Given the description of an element on the screen output the (x, y) to click on. 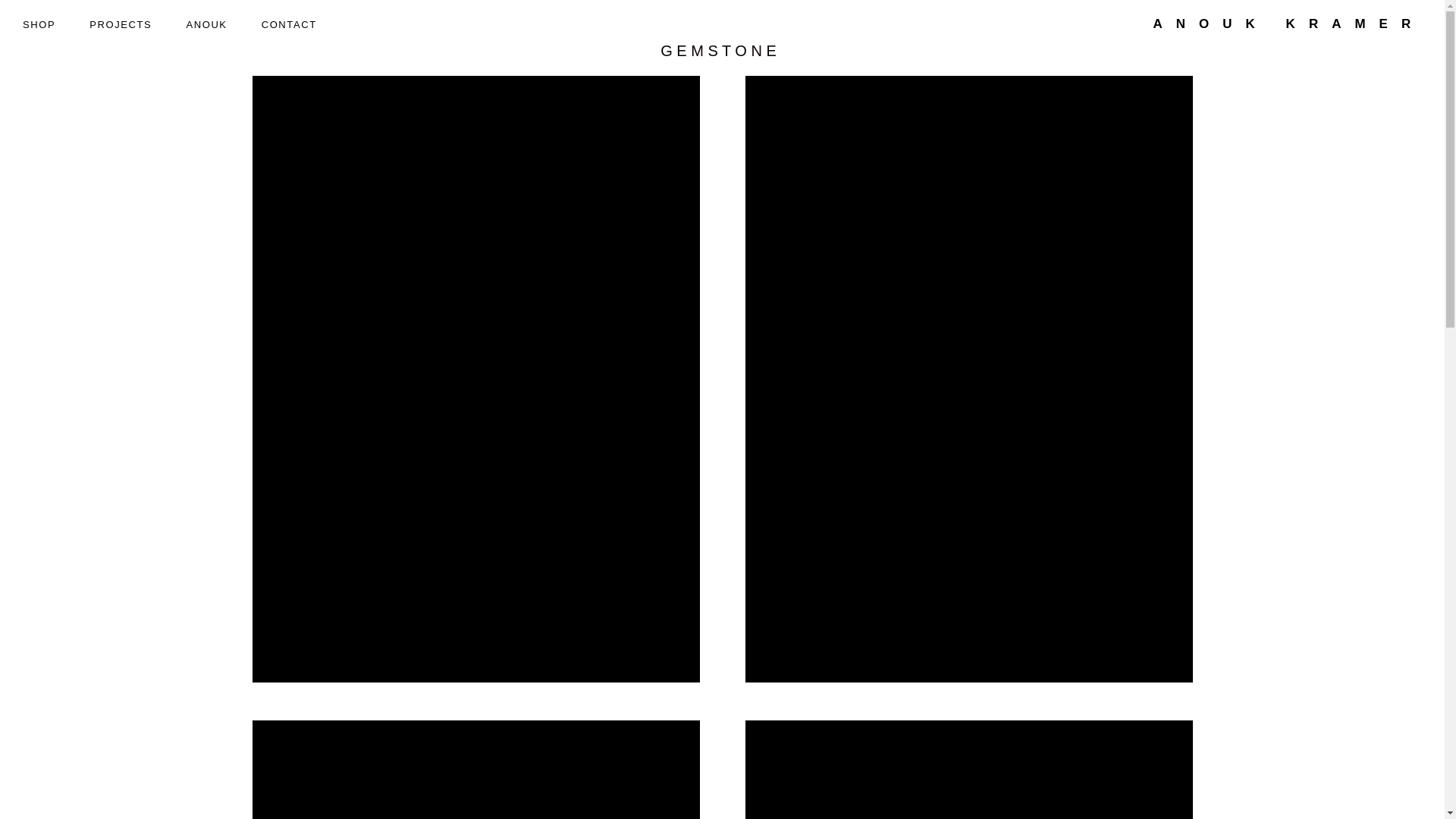
PROJECTS (120, 25)
ANOUK (205, 25)
CONTACT (288, 25)
SHOP (38, 25)
